Given the description of an element on the screen output the (x, y) to click on. 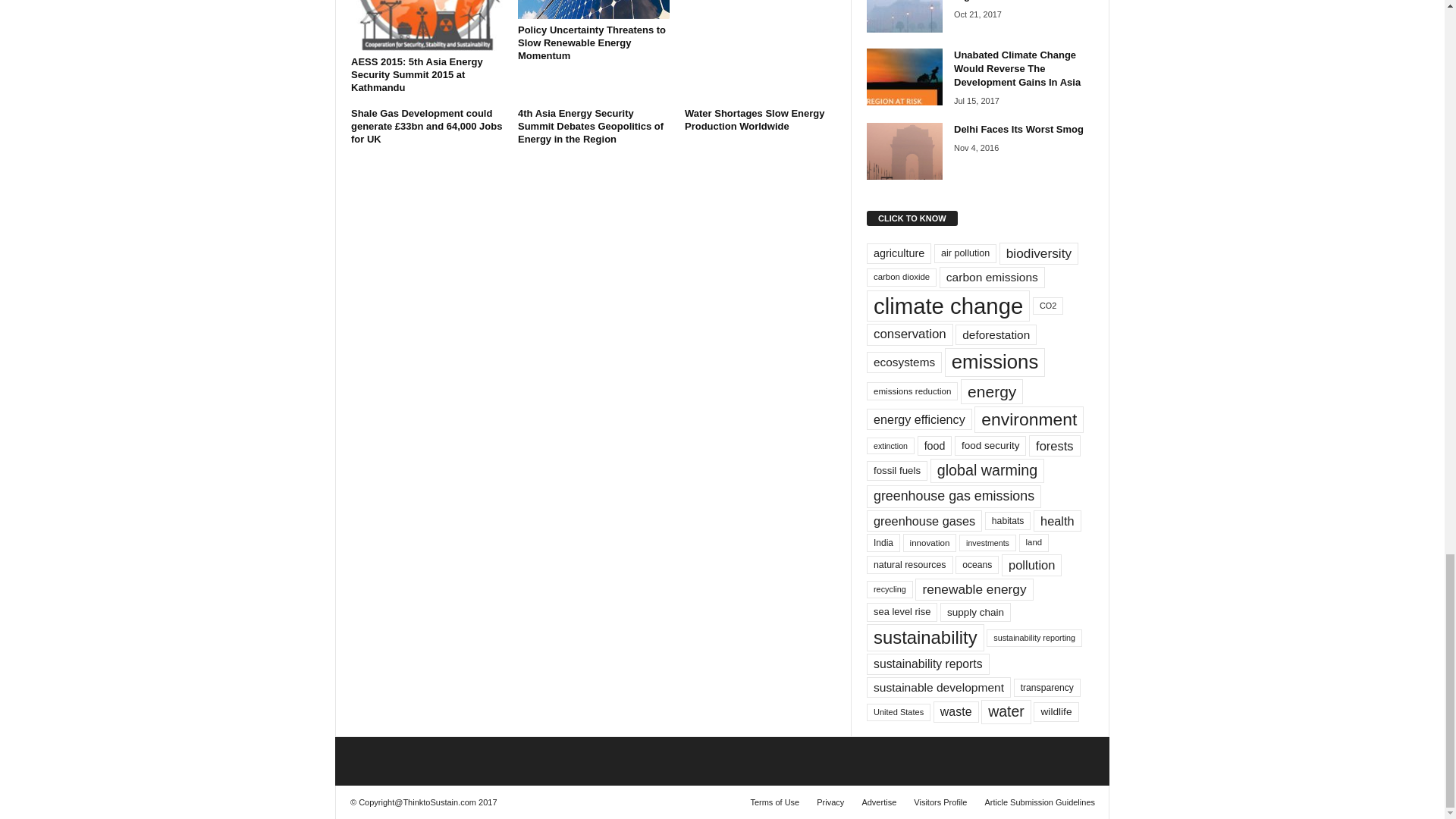
AESS 2015: 5th Asia Energy Security Summit 2015 at Kathmandu (426, 25)
